Given the description of an element on the screen output the (x, y) to click on. 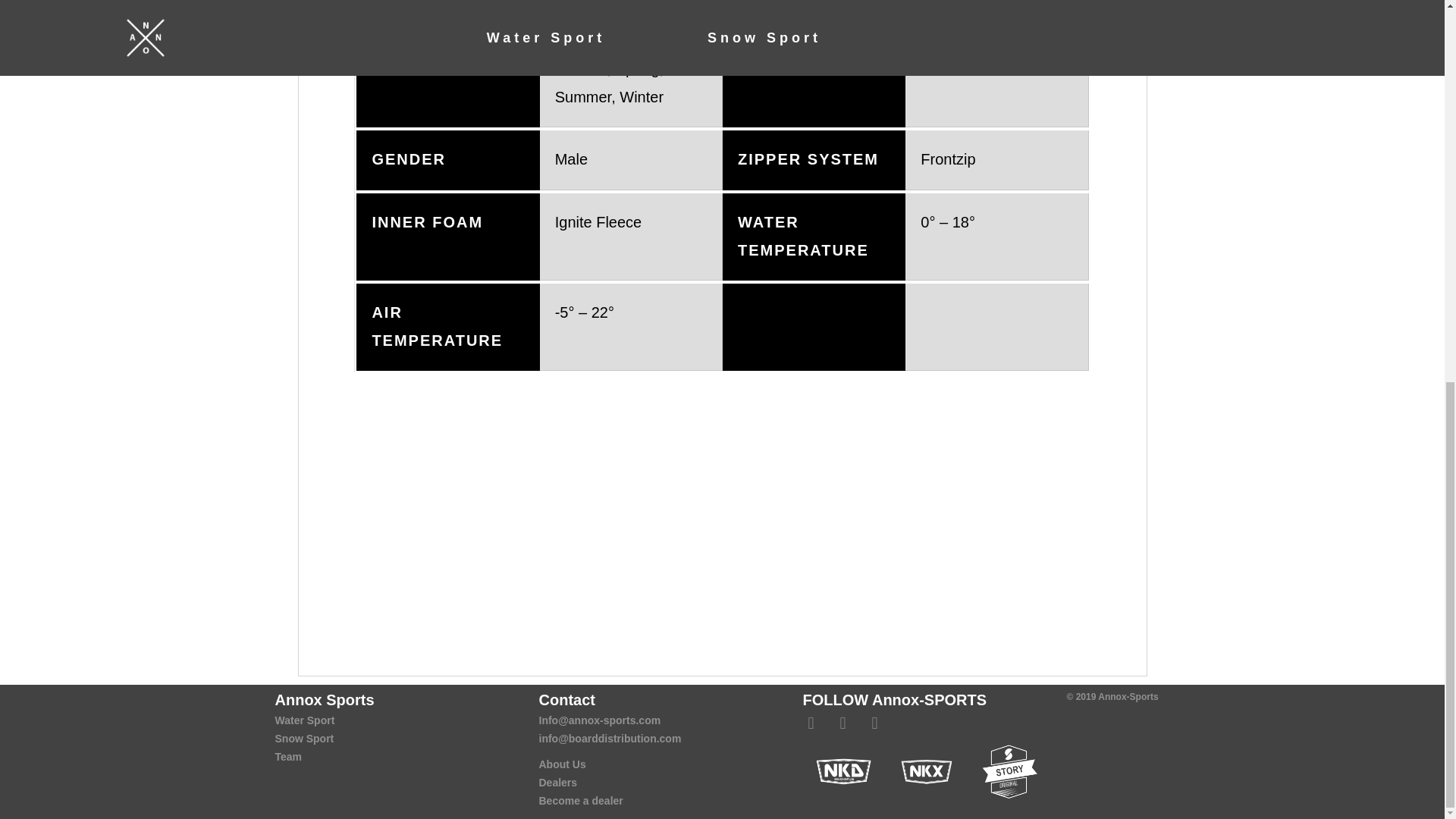
Snow Sport (304, 738)
Become a dealer (580, 800)
About Us (561, 764)
Team (288, 756)
Dealers (557, 782)
Water Sport (304, 720)
